Given the description of an element on the screen output the (x, y) to click on. 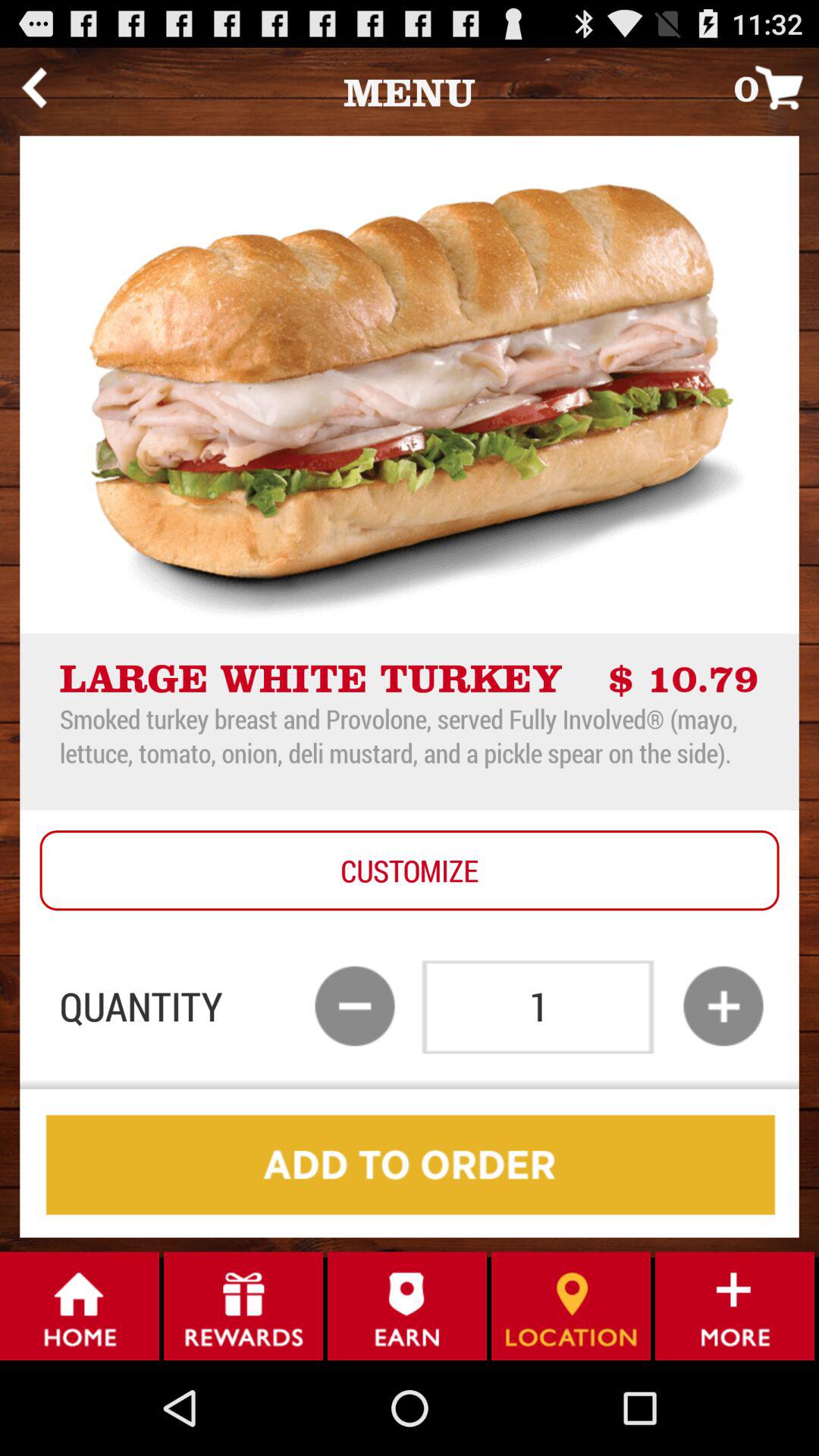
choose the icon below the smoked turkey breast app (409, 870)
